Given the description of an element on the screen output the (x, y) to click on. 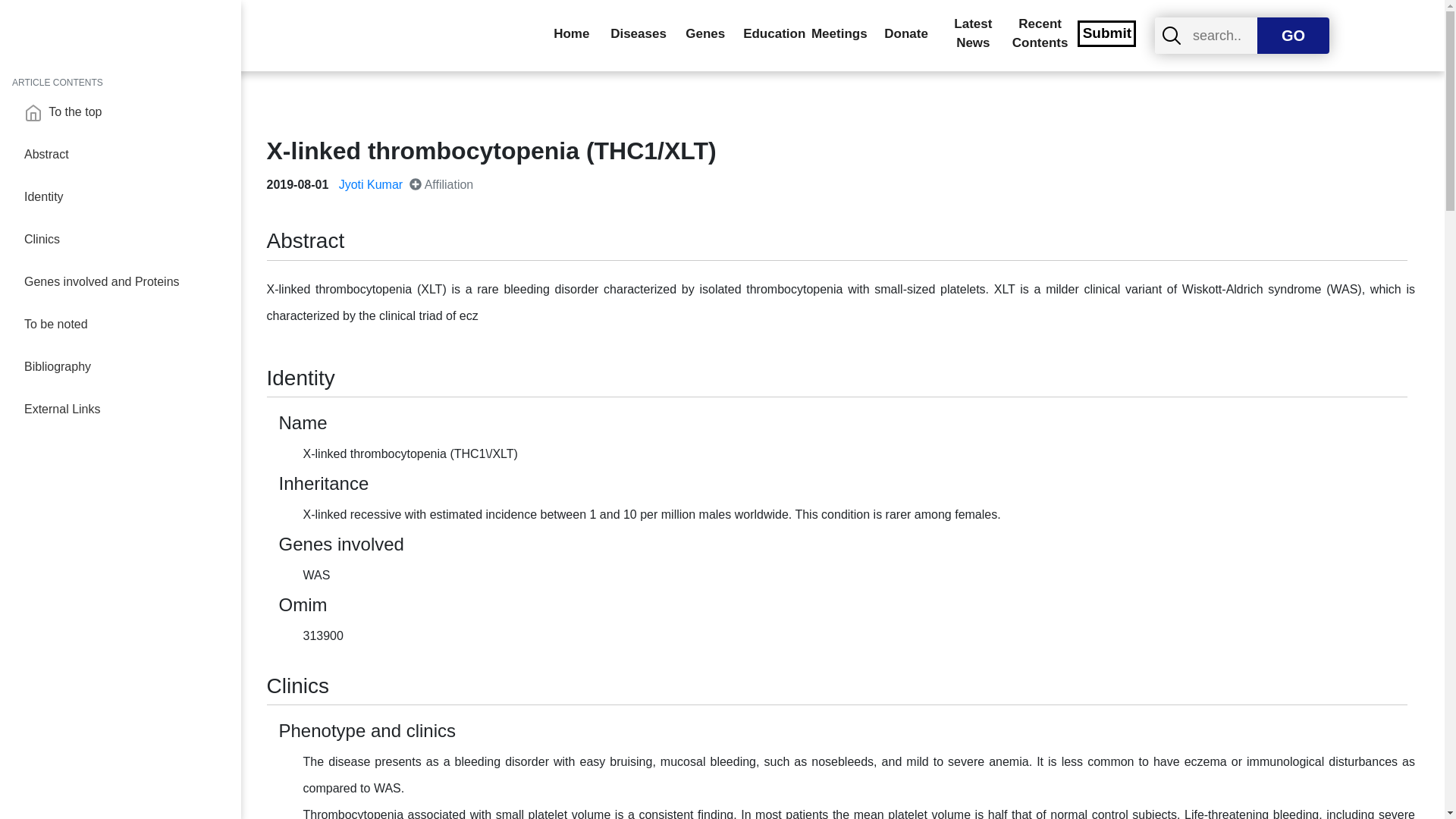
Affiliation (441, 184)
Education (772, 34)
External Links (126, 409)
Donate (906, 34)
GO (1293, 35)
Abstract (126, 154)
To the top (126, 111)
Recent Contents (1039, 33)
Meetings (838, 34)
Home (570, 34)
